Given the description of an element on the screen output the (x, y) to click on. 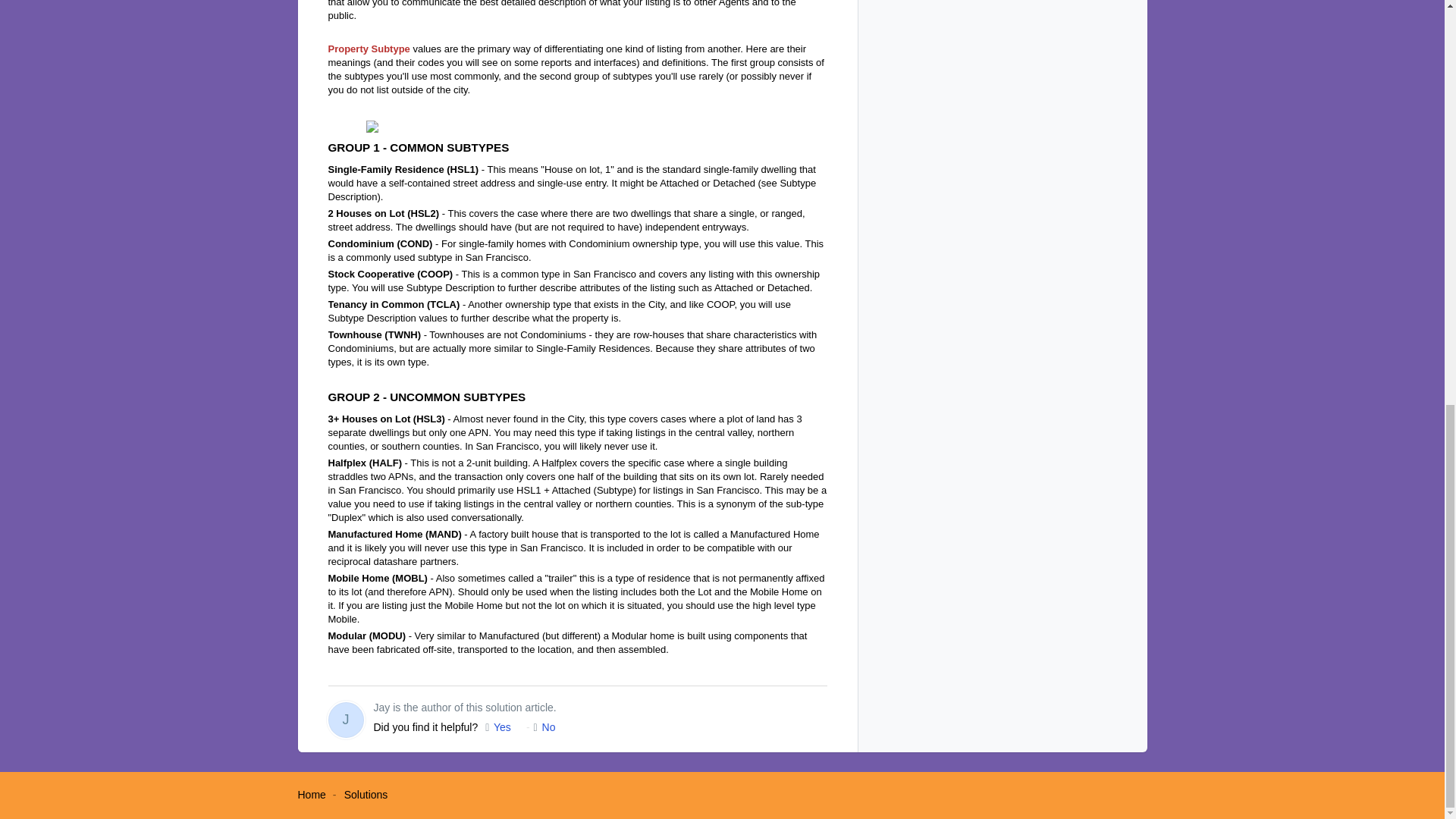
Home (310, 794)
Solutions (365, 794)
